Given the description of an element on the screen output the (x, y) to click on. 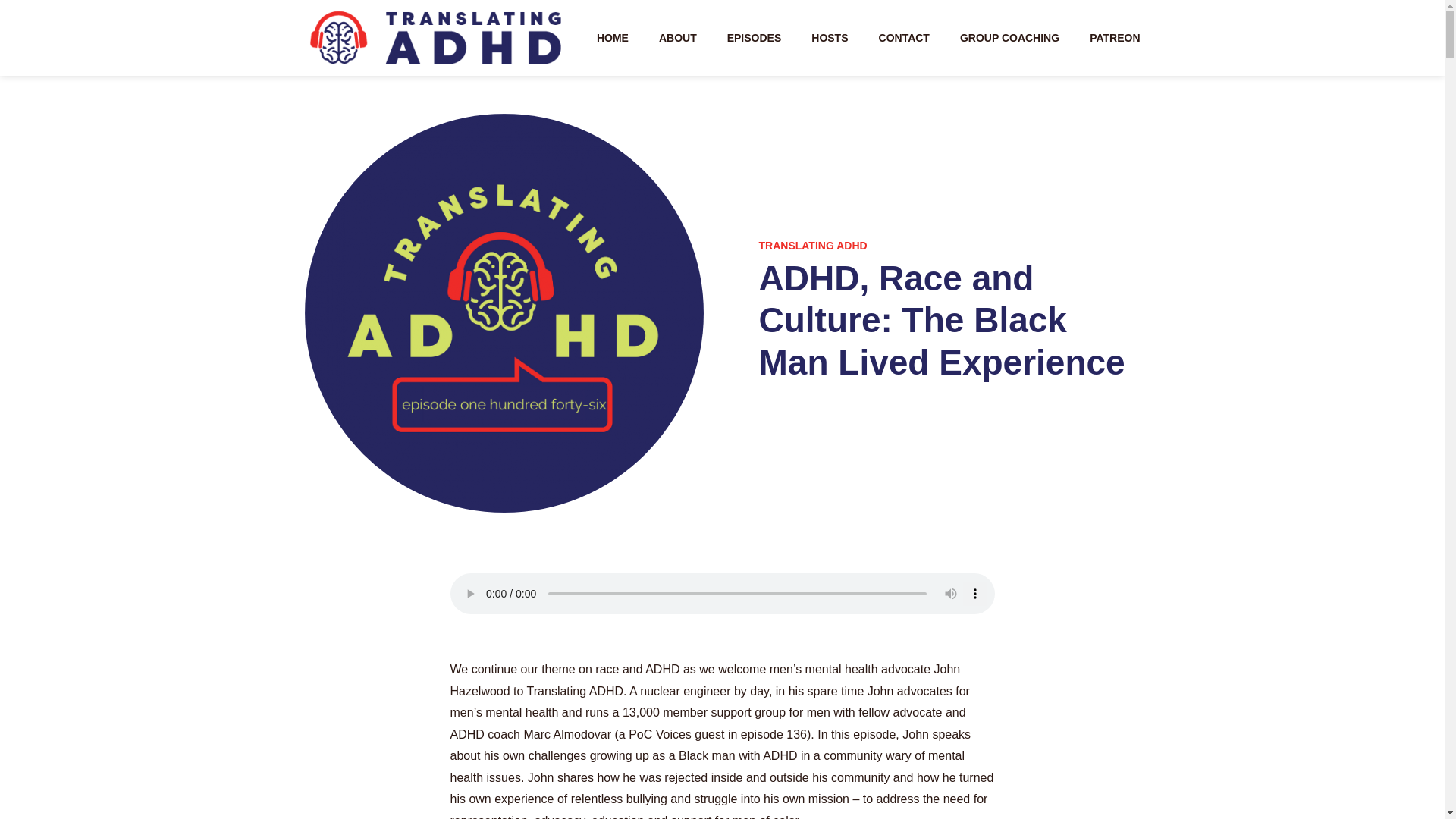
TRANSLATING ADHD (812, 245)
HOSTS (828, 37)
GROUP COACHING (1009, 37)
CONTACT (904, 37)
EPISODES (753, 37)
PATREON (1114, 37)
ABOUT (678, 37)
